Given the description of an element on the screen output the (x, y) to click on. 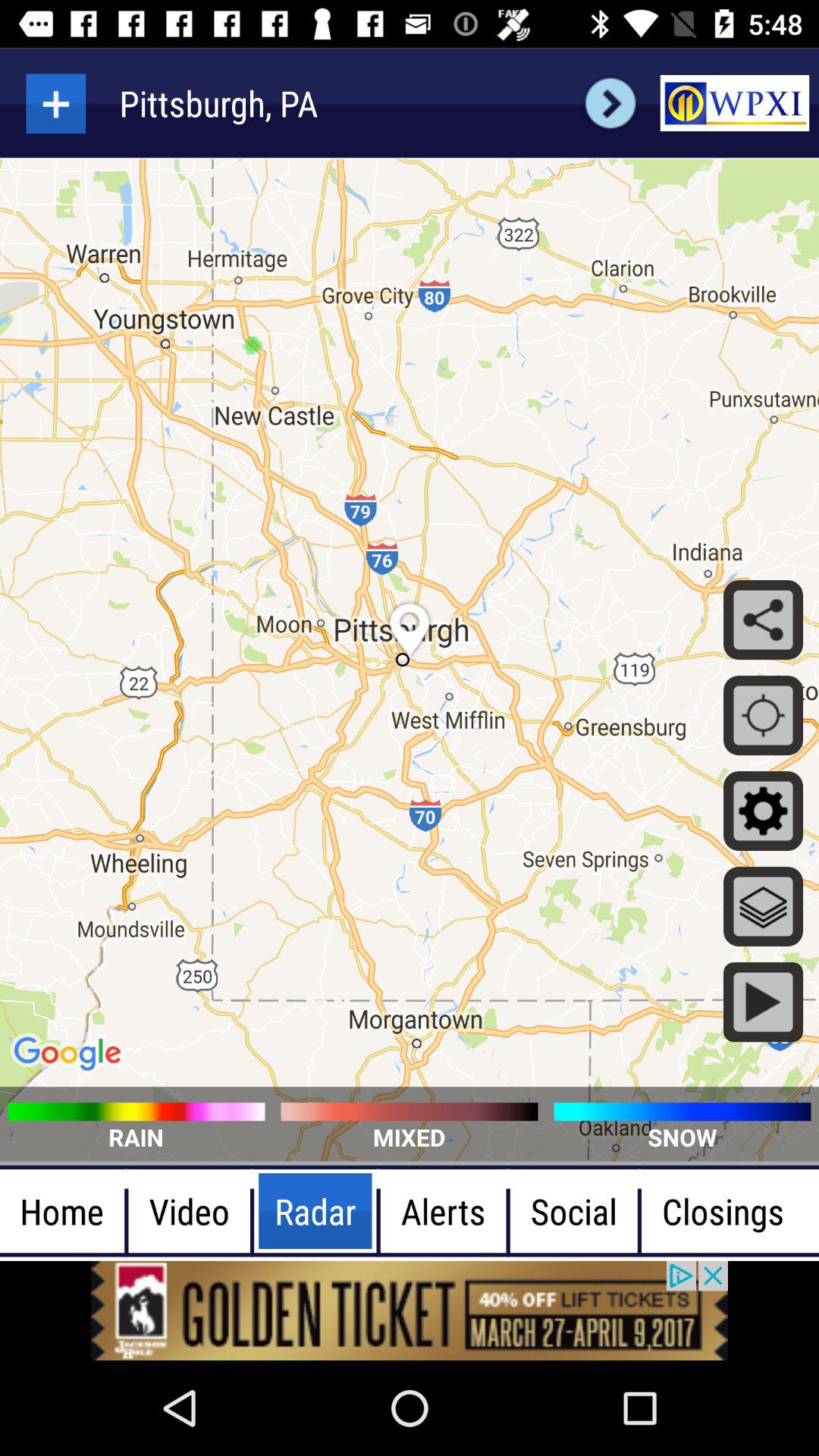
advertisement banner (409, 1310)
